Given the description of an element on the screen output the (x, y) to click on. 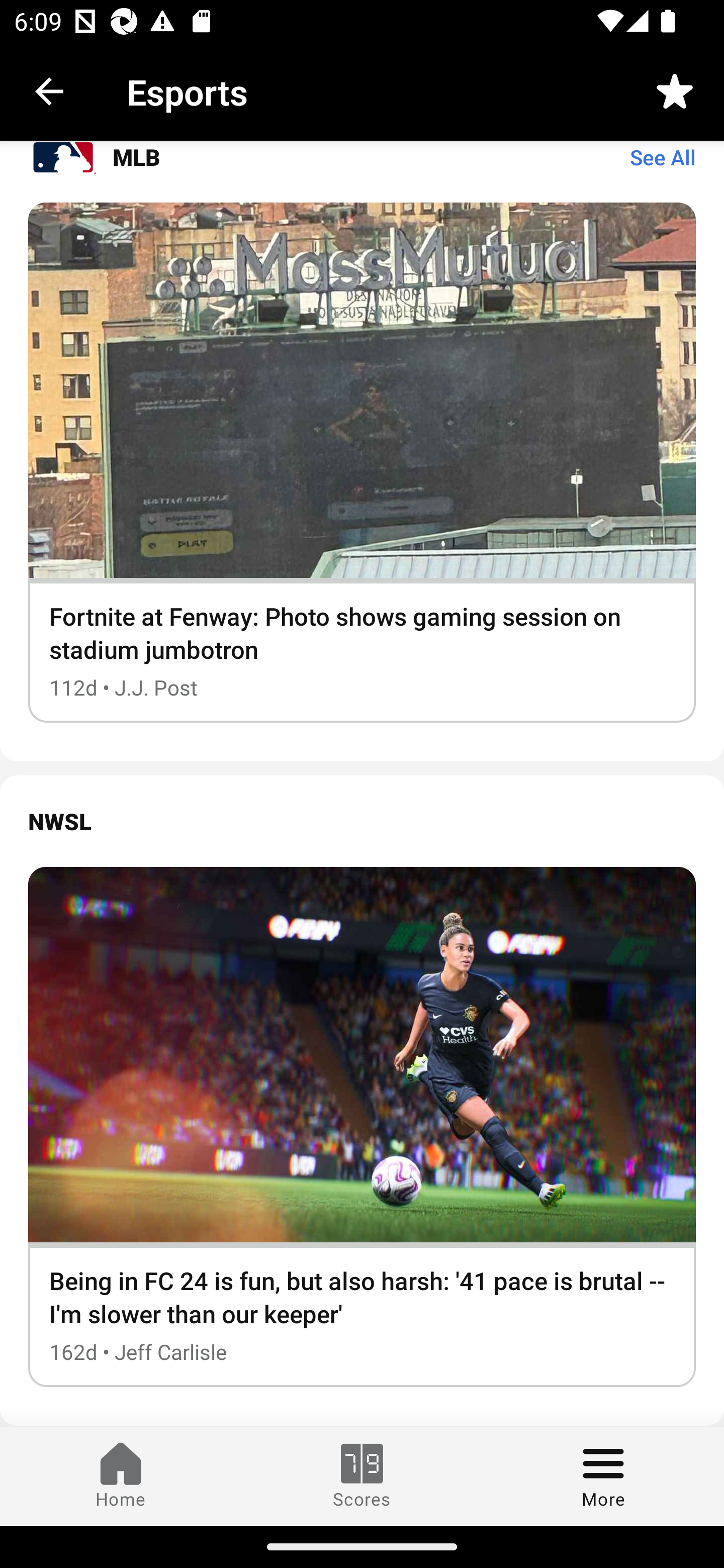
back.button (49, 90)
Favorite toggle (674, 90)
MLB See All (362, 171)
Home (120, 1475)
Scores (361, 1475)
